Given the description of an element on the screen output the (x, y) to click on. 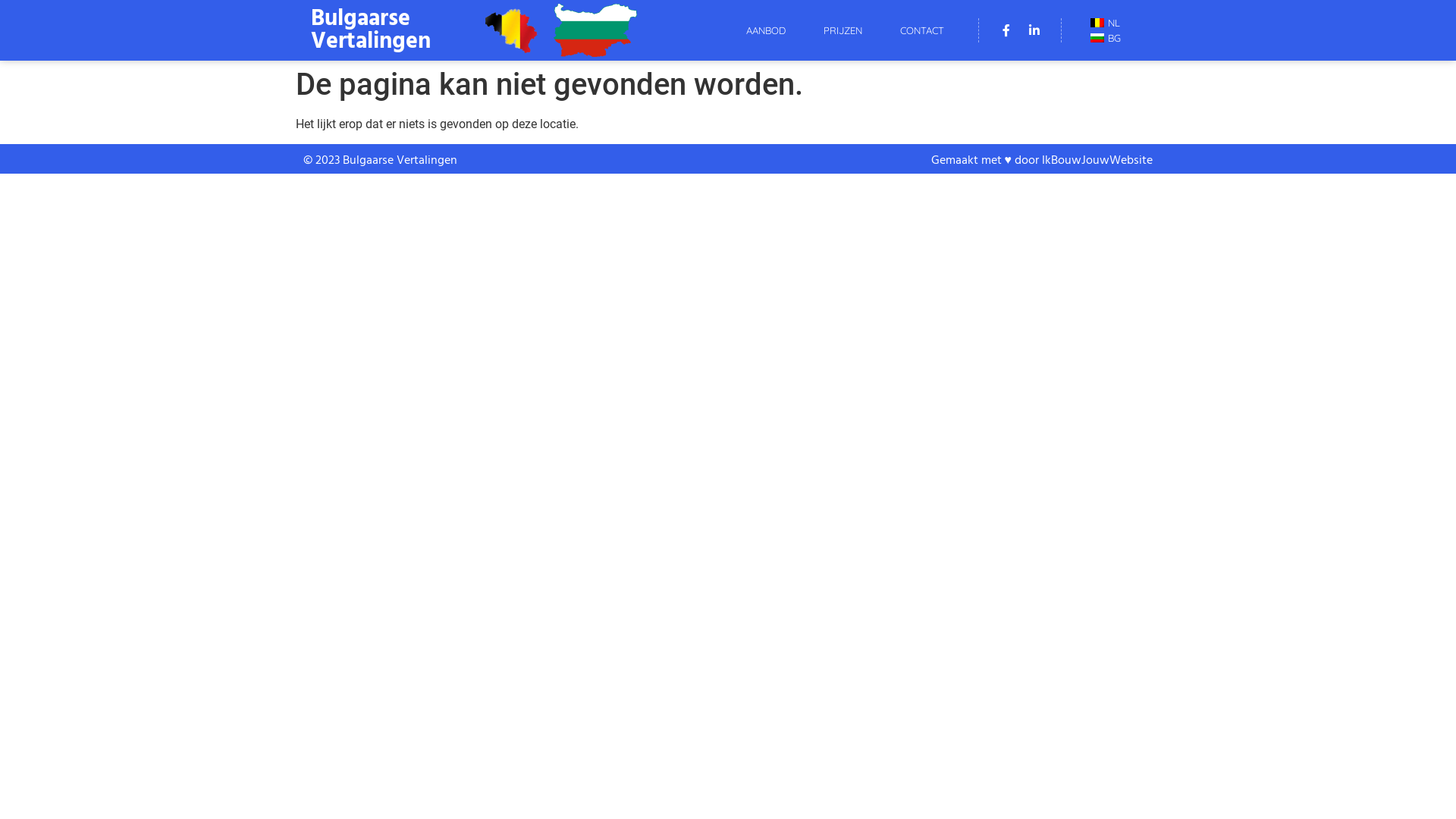
PRIJZEN Element type: text (842, 29)
AANBOD Element type: text (765, 29)
BG Element type: text (1102, 37)
IkBouwJouwWebsite Element type: text (1096, 160)
CONTACT Element type: text (922, 29)
Bulgarije Element type: hover (595, 29)
NL Element type: text (1103, 22)
